Given the description of an element on the screen output the (x, y) to click on. 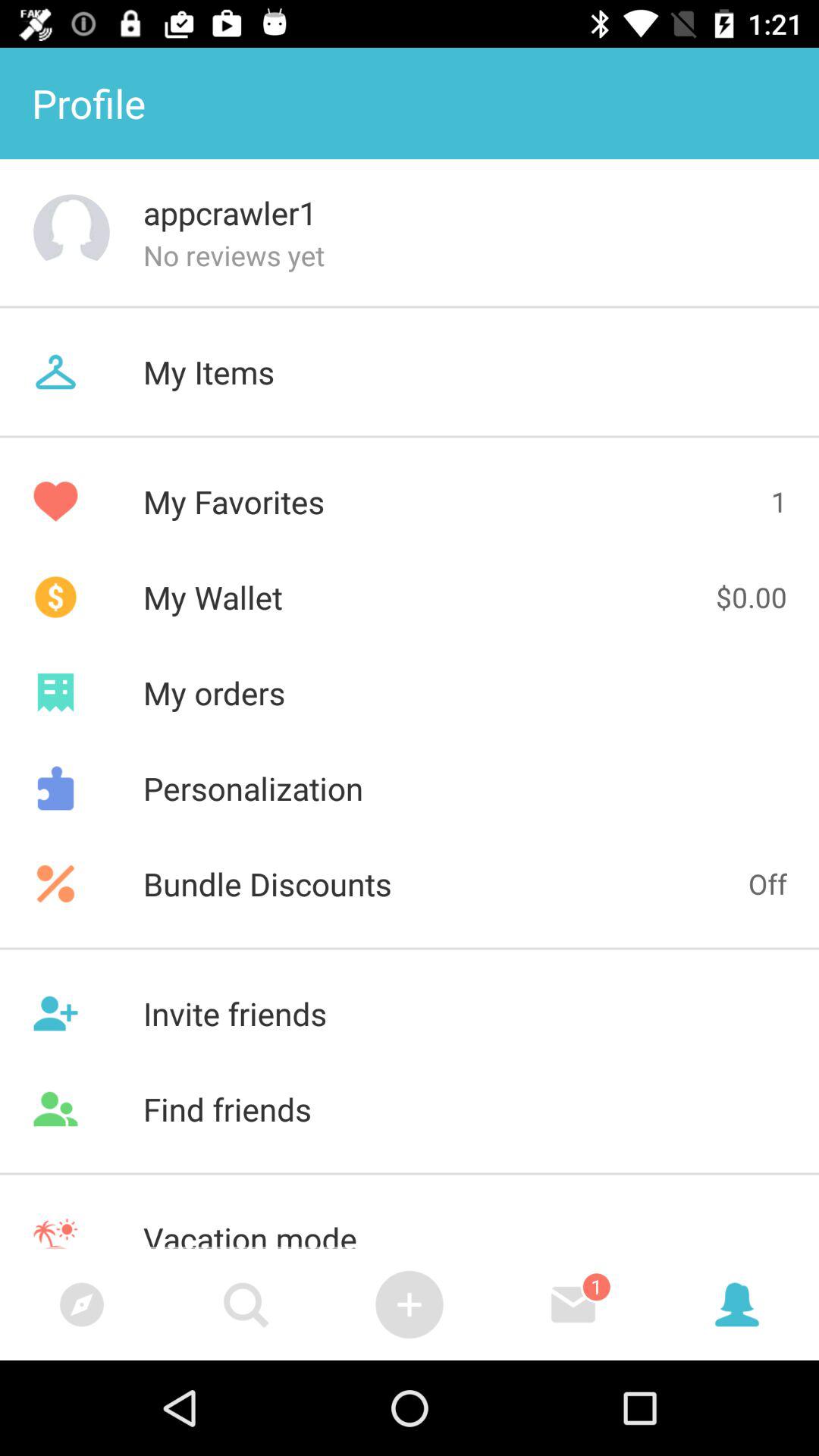
choose item below the my orders icon (409, 788)
